Given the description of an element on the screen output the (x, y) to click on. 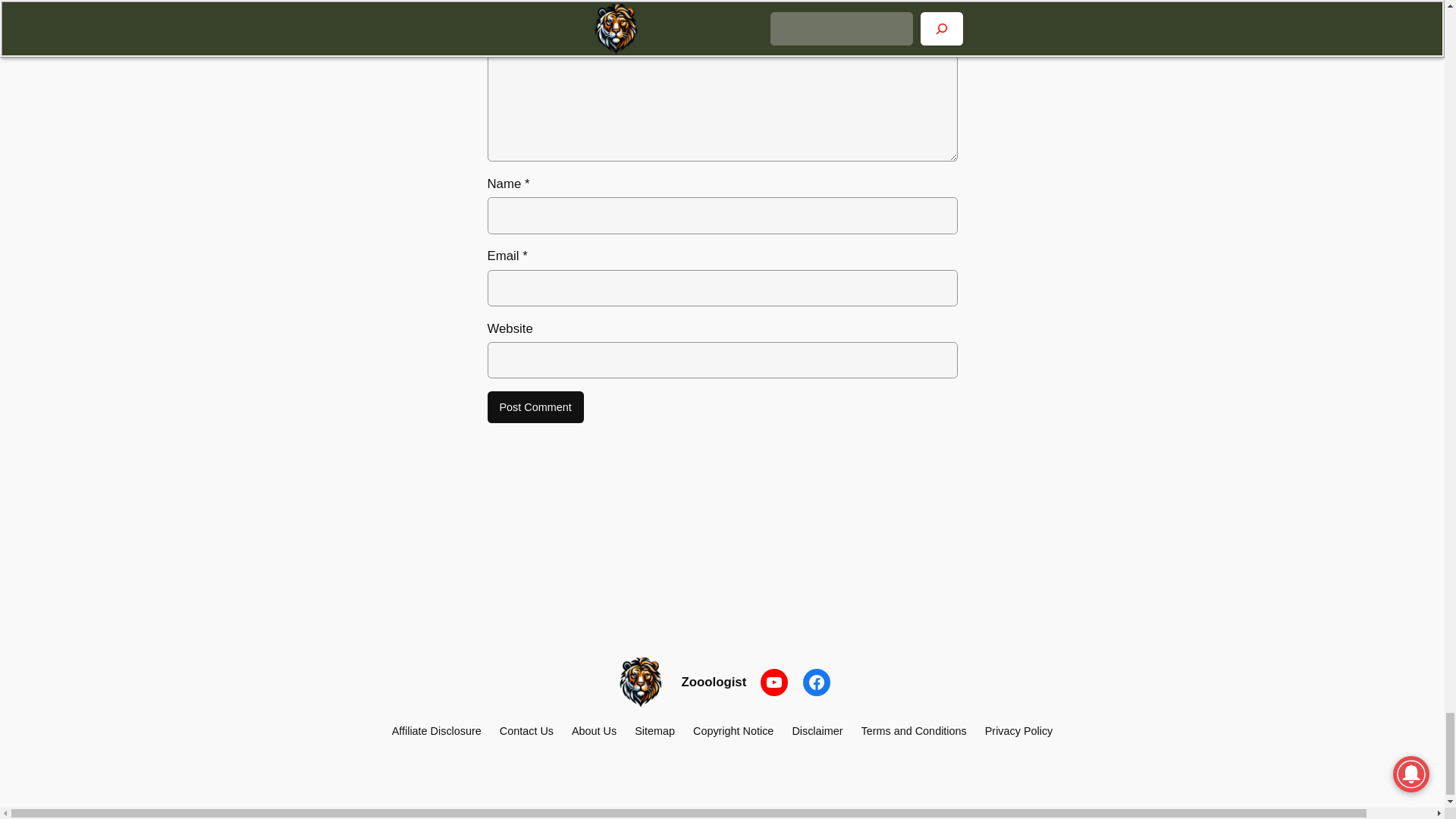
Post Comment (534, 407)
